Given the description of an element on the screen output the (x, y) to click on. 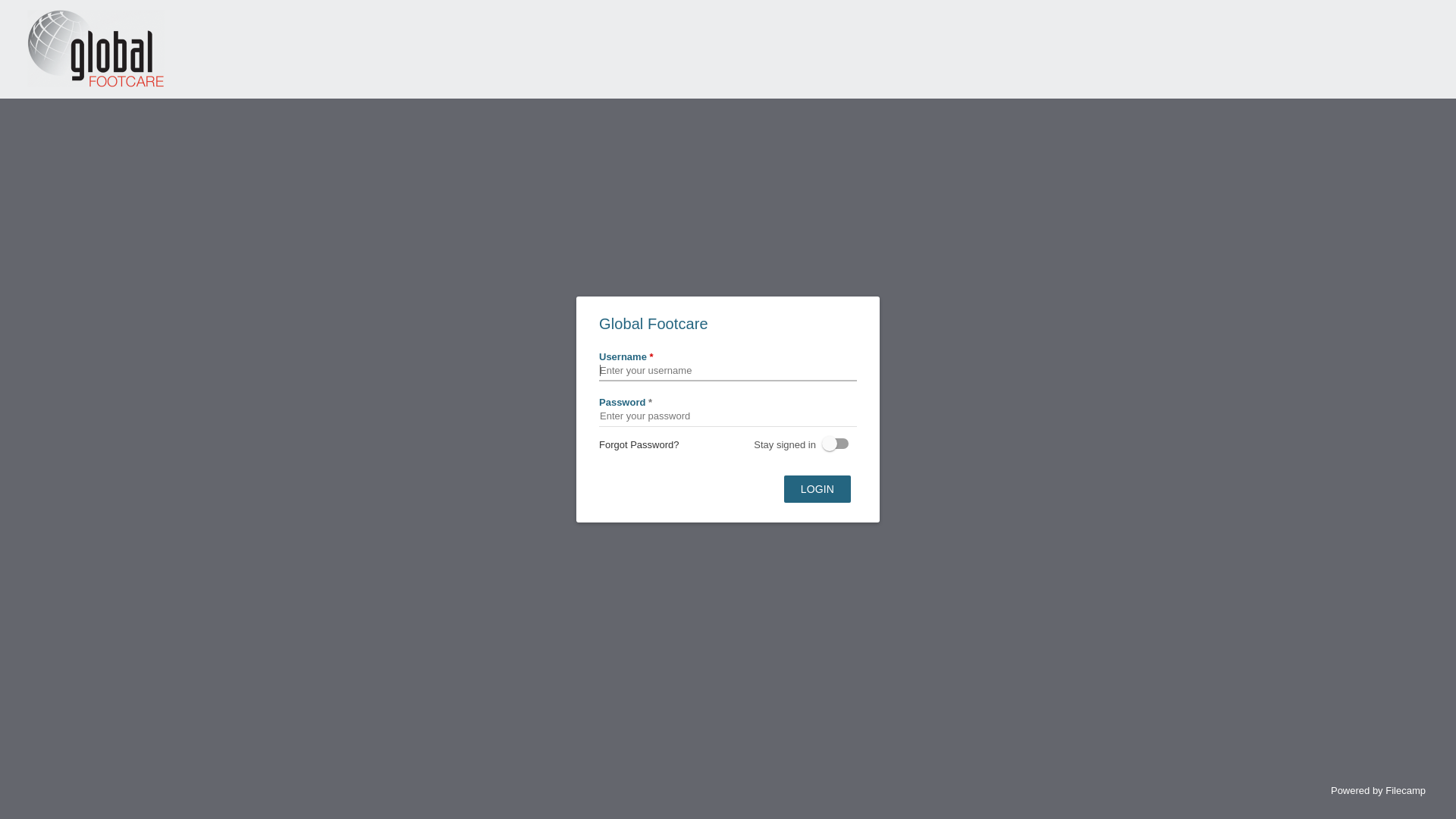
LOGIN Element type: text (817, 488)
Filecamp Element type: text (1405, 790)
Forgot Password? Element type: text (639, 444)
